Given the description of an element on the screen output the (x, y) to click on. 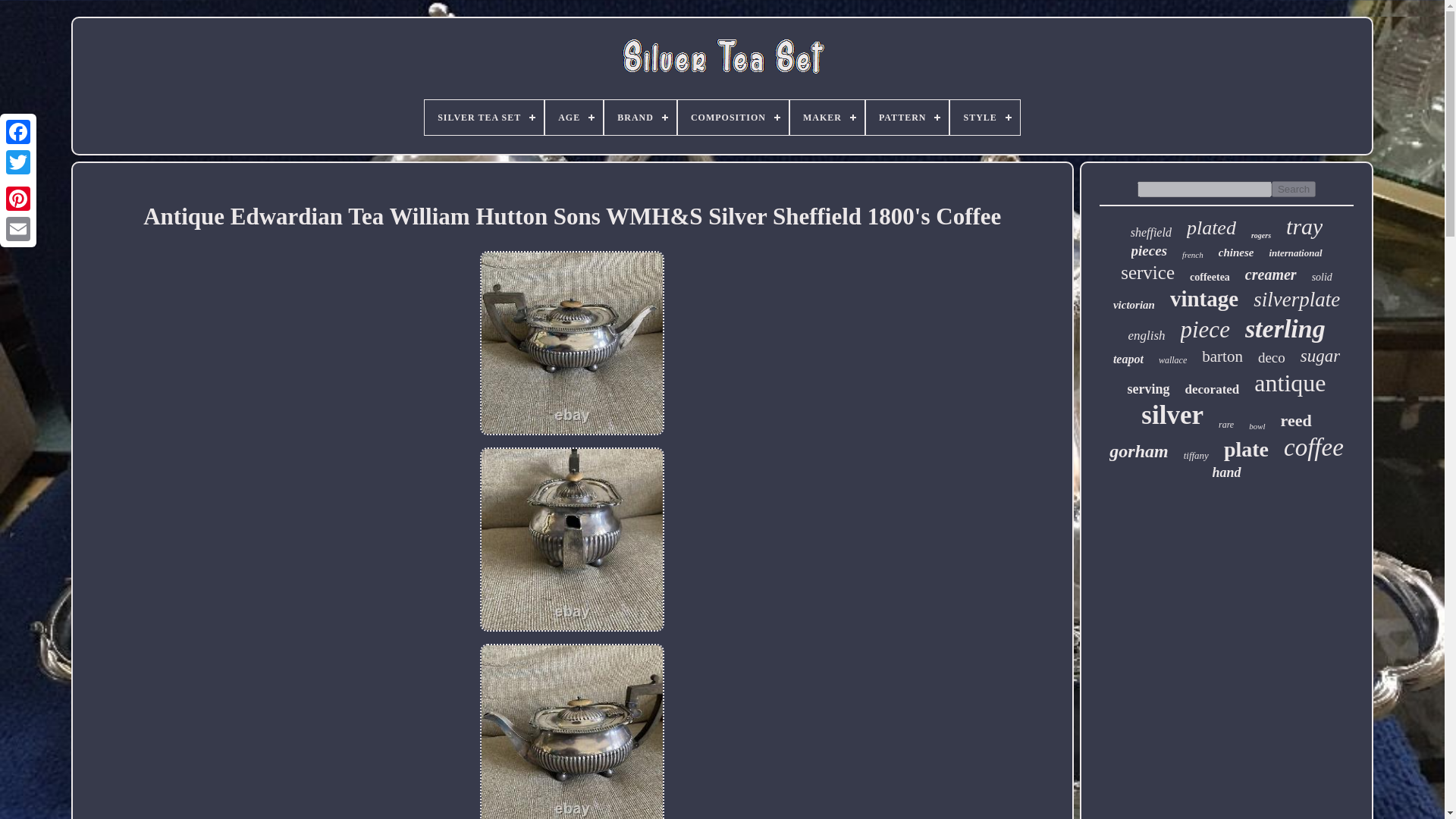
Search (1293, 188)
BRAND (640, 117)
AGE (573, 117)
SILVER TEA SET (484, 117)
